Given the description of an element on the screen output the (x, y) to click on. 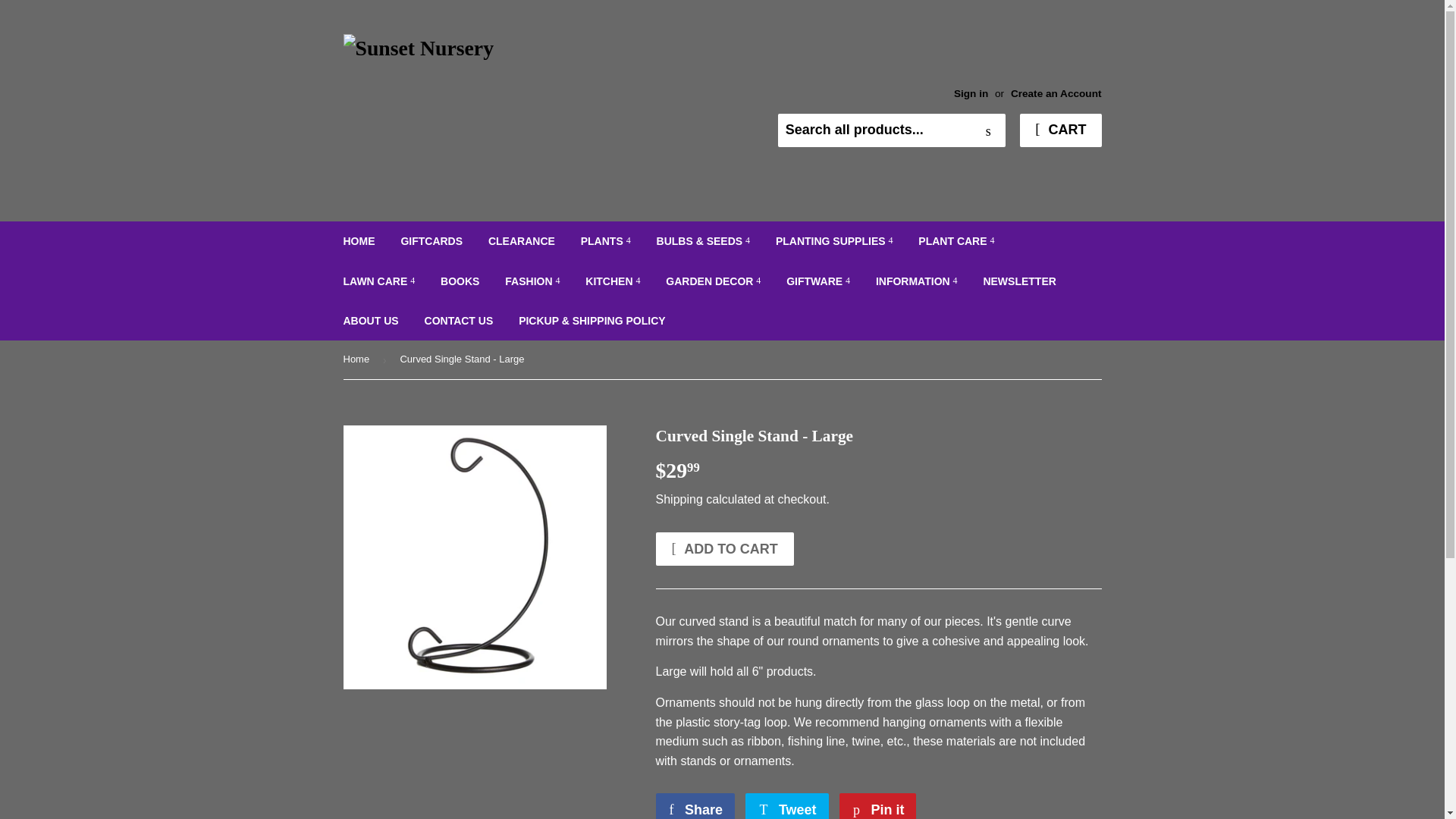
Sign in (970, 93)
Create an Account (1056, 93)
CART (1060, 130)
Share on Facebook (694, 806)
Search (988, 131)
Pin on Pinterest (877, 806)
Tweet on Twitter (786, 806)
